Given the description of an element on the screen output the (x, y) to click on. 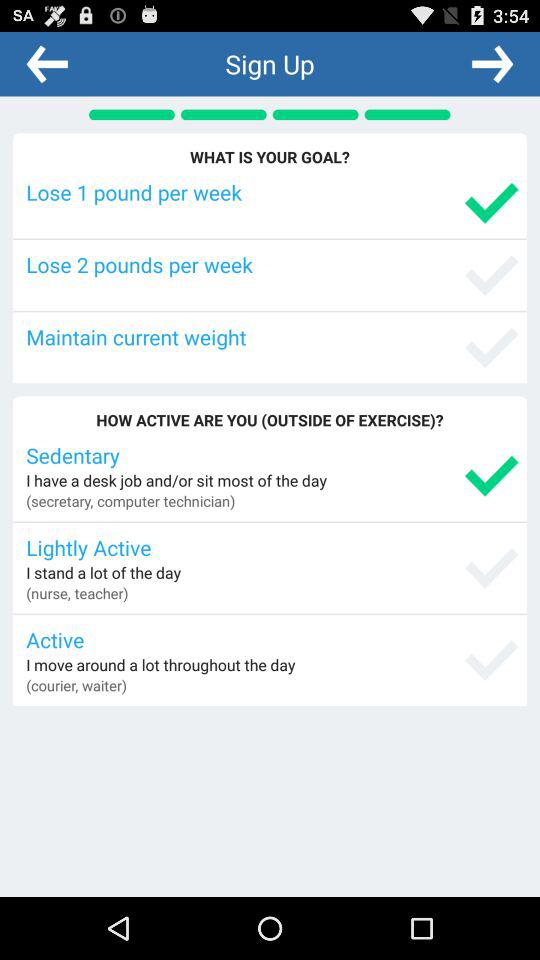
open the lose 2 pounds icon (272, 264)
